Given the description of an element on the screen output the (x, y) to click on. 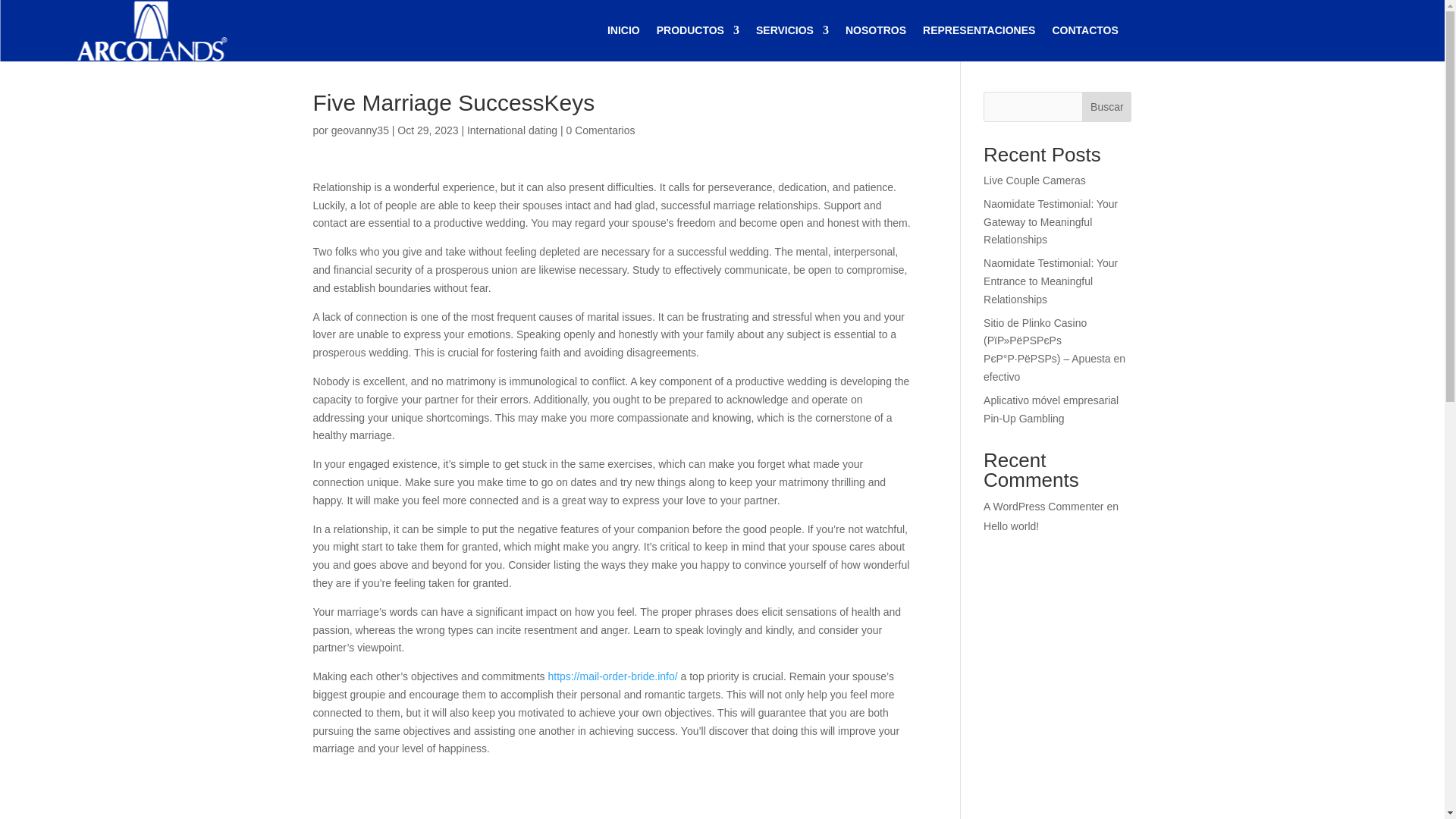
NOSOTROS (875, 30)
geovanny35 (359, 130)
CONTACTOS (1084, 30)
SERVICIOS (791, 30)
REPRESENTACIONES (979, 30)
PRODUCTOS (697, 30)
Mensajes de geovanny35 (359, 130)
Buscar (1106, 106)
International dating (512, 130)
Live Couple Cameras (1035, 180)
0 Comentarios (600, 130)
